Given the description of an element on the screen output the (x, y) to click on. 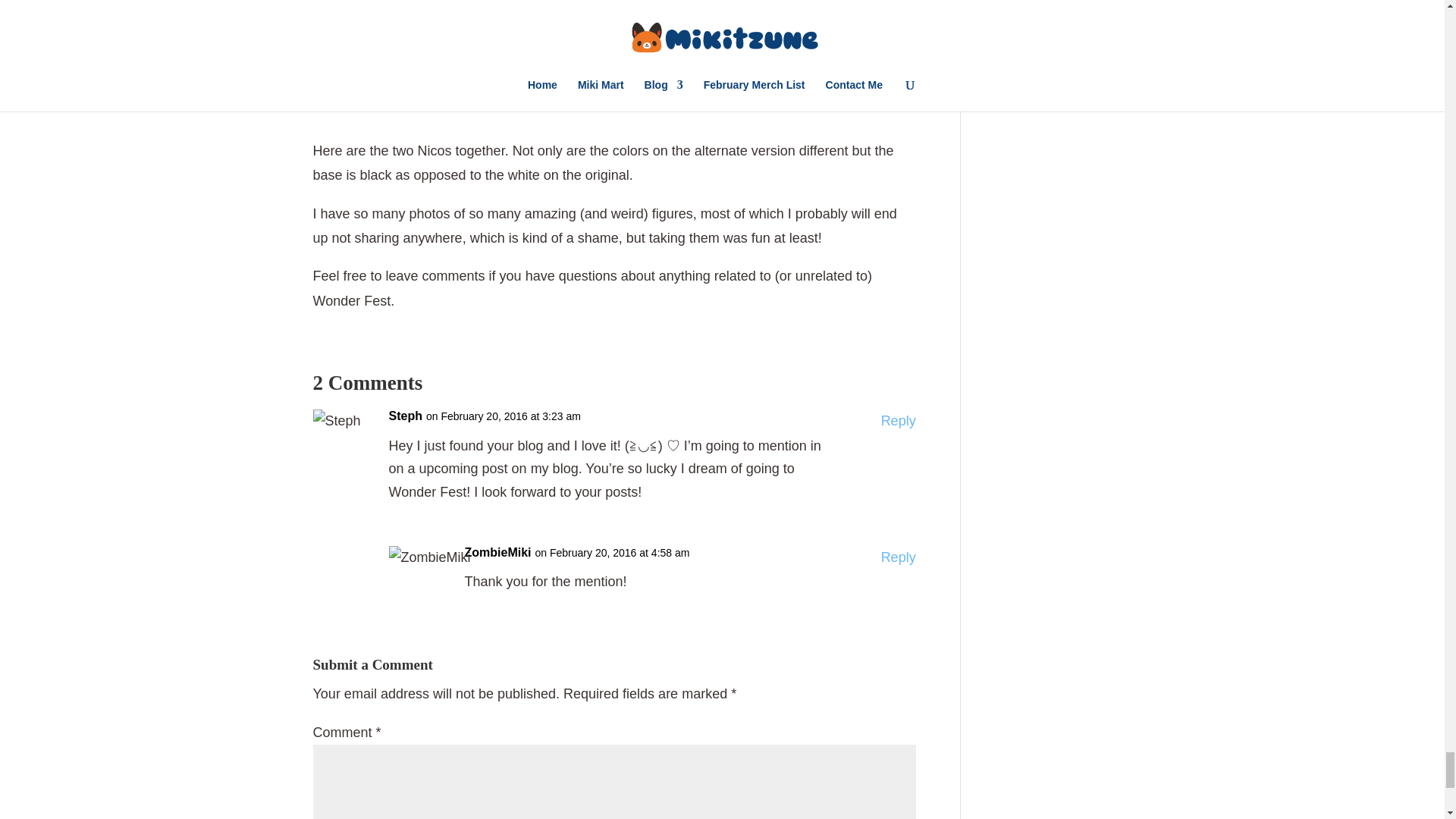
Reply (897, 557)
Steph (405, 416)
Reply (897, 421)
